Given the description of an element on the screen output the (x, y) to click on. 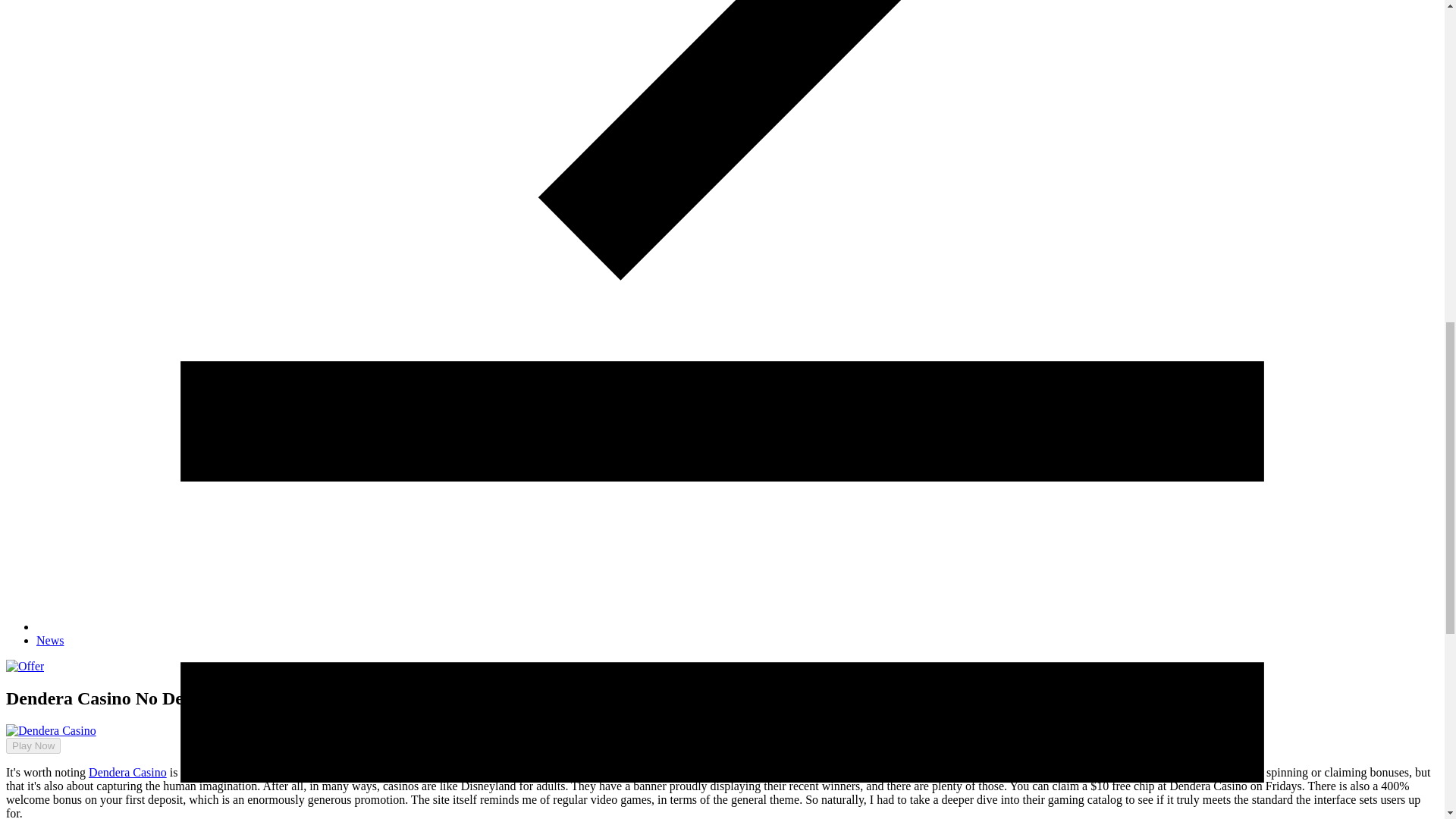
News (50, 640)
Play Now (33, 745)
Dendera Casino (127, 771)
Play Now (27, 731)
